Given the description of an element on the screen output the (x, y) to click on. 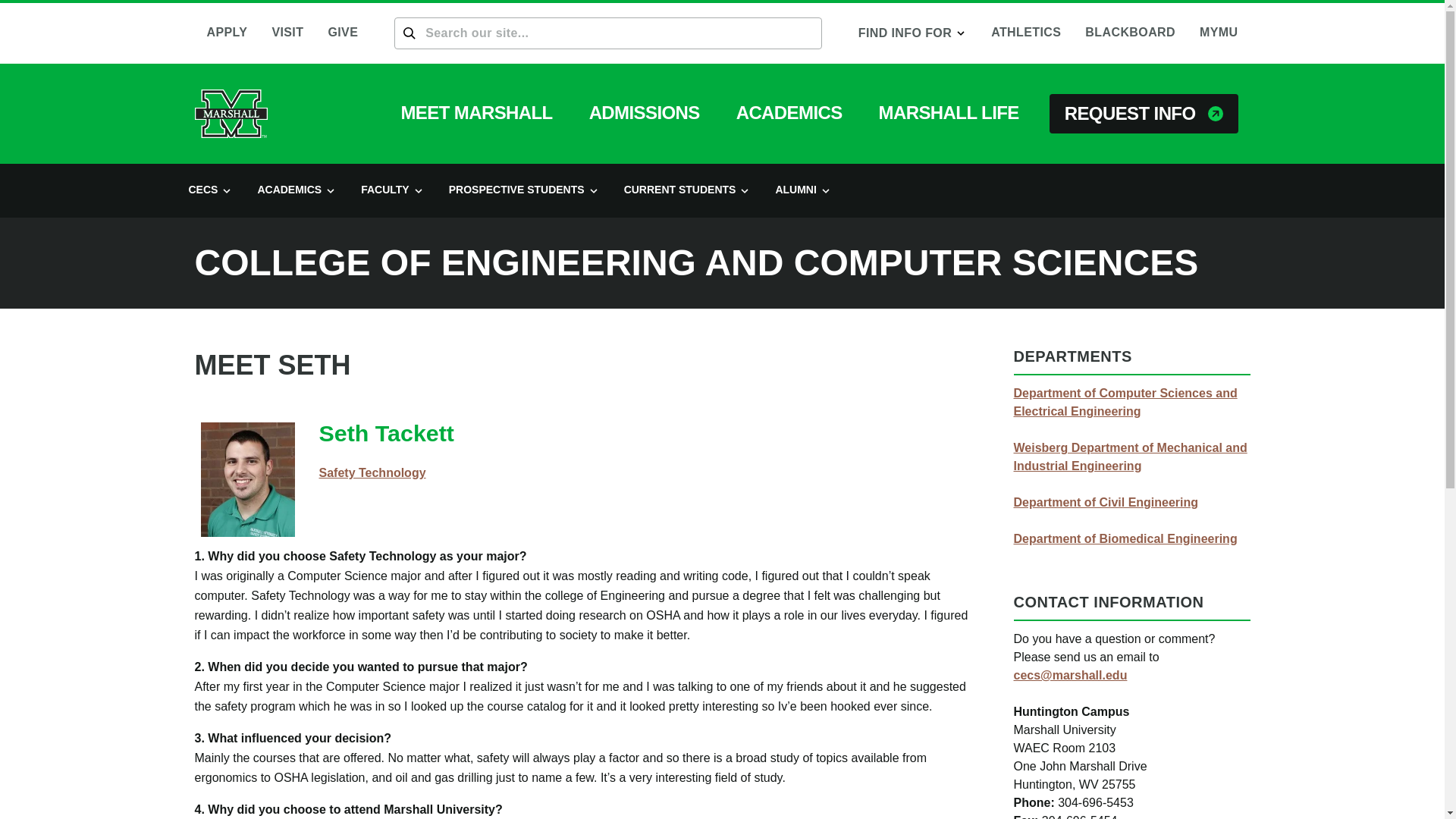
VISIT (287, 33)
Major (371, 472)
APPLY (226, 33)
GIVE (342, 33)
